Given the description of an element on the screen output the (x, y) to click on. 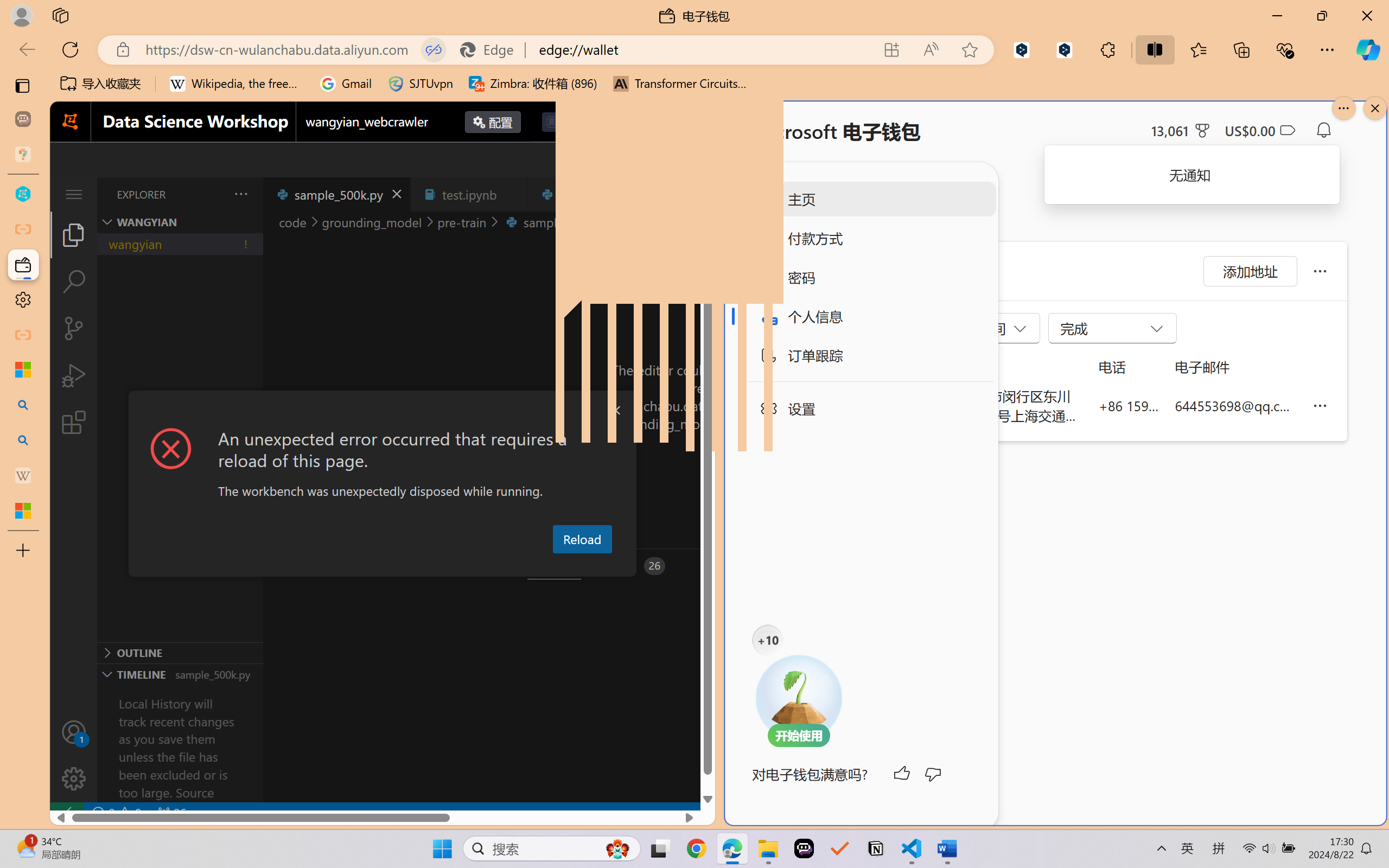
Explorer actions (212, 194)
test.ipynb (468, 194)
Views and More Actions... (240, 193)
Explorer (Ctrl+Shift+E) (73, 234)
Outline Section (179, 652)
Explorer Section: wangyian (179, 221)
remote (66, 812)
